Given the description of an element on the screen output the (x, y) to click on. 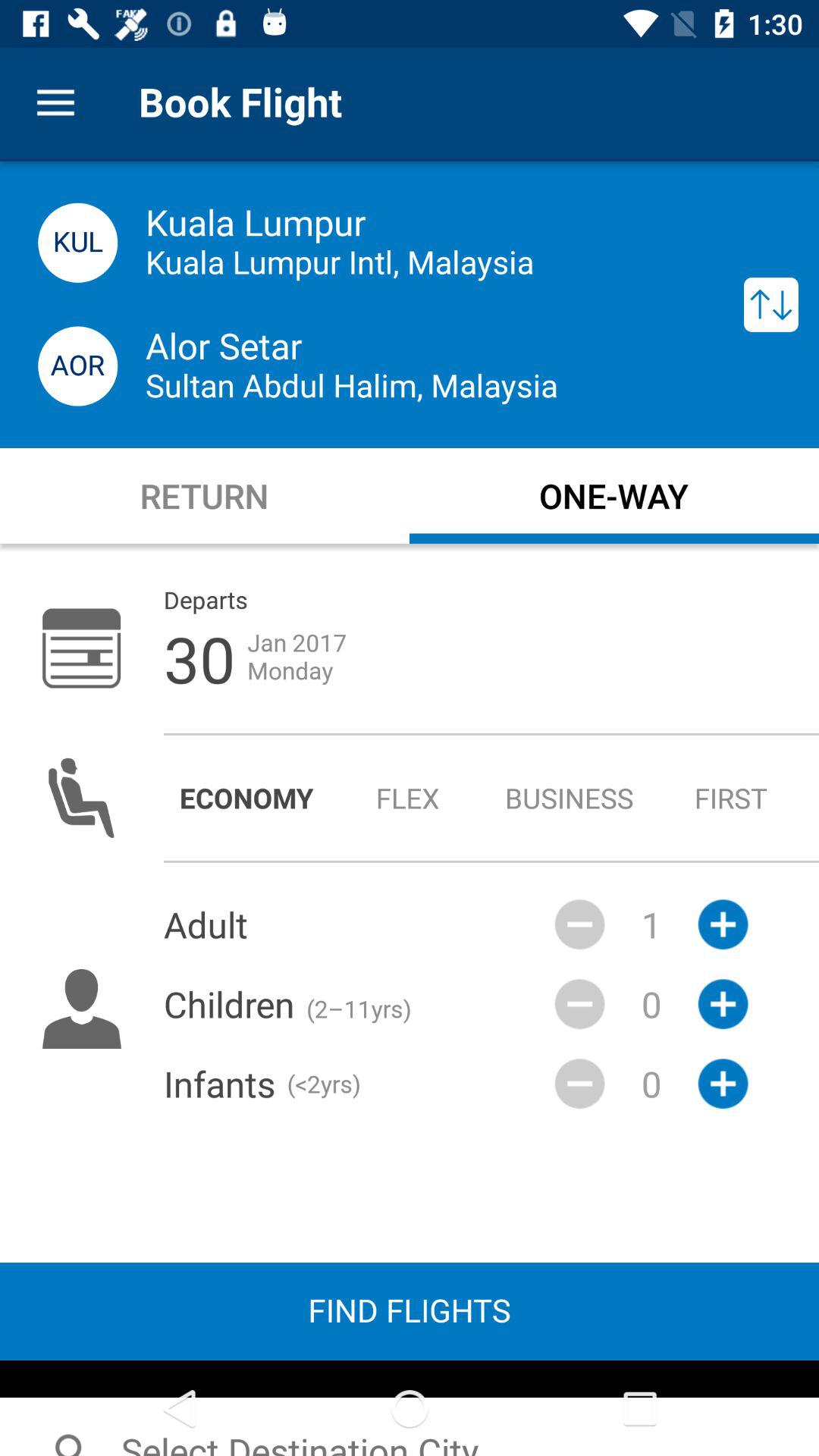
open radio button next to the flex (246, 797)
